Given the description of an element on the screen output the (x, y) to click on. 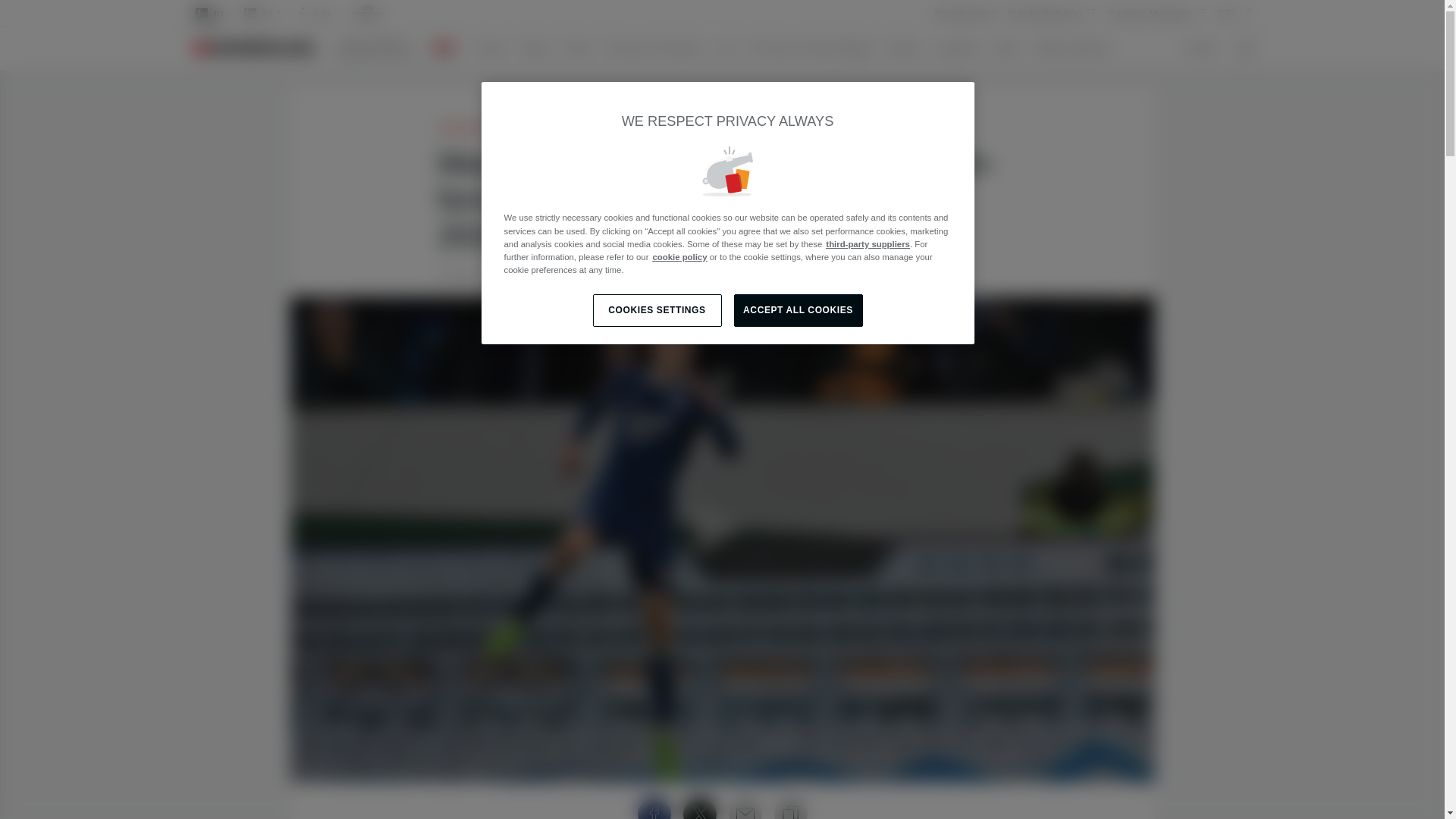
Stats (1012, 48)
Broadcasters (964, 13)
DFL (1236, 13)
Table (539, 48)
BL (208, 13)
Clubs (582, 48)
VBL (315, 13)
Fantasy Manager (1158, 13)
Home (497, 48)
Bundesliga App (1052, 13)
60 Years of Bundesliga (817, 48)
Videos (909, 48)
DFL (1236, 13)
Live (731, 48)
Broadcasters (964, 13)
